Given the description of an element on the screen output the (x, y) to click on. 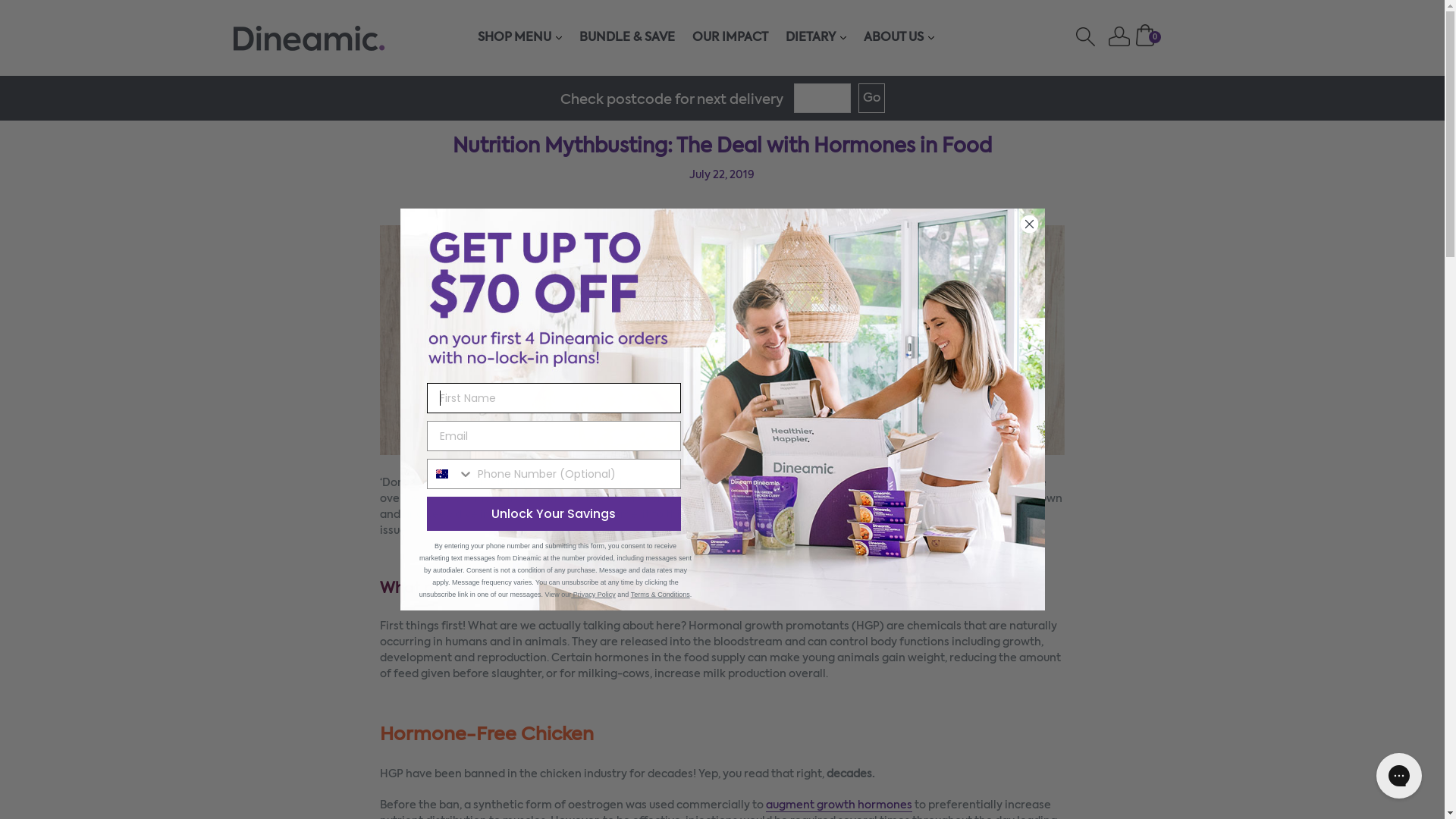
Gorgias live chat messenger Element type: hover (1398, 775)
Submit Element type: text (32, 14)
Terms & Conditions Element type: text (660, 594)
Go Element type: text (871, 97)
Australia Element type: hover (441, 473)
Cart
Cart
0 Element type: text (1144, 42)
Submit Element type: text (32, 16)
augment growth hormones Element type: text (838, 806)
Unlock Your Savings Element type: text (553, 513)
Privacy Policy Element type: text (593, 594)
OUR IMPACT Element type: text (729, 37)
BUNDLE & SAVE Element type: text (626, 37)
